Given the description of an element on the screen output the (x, y) to click on. 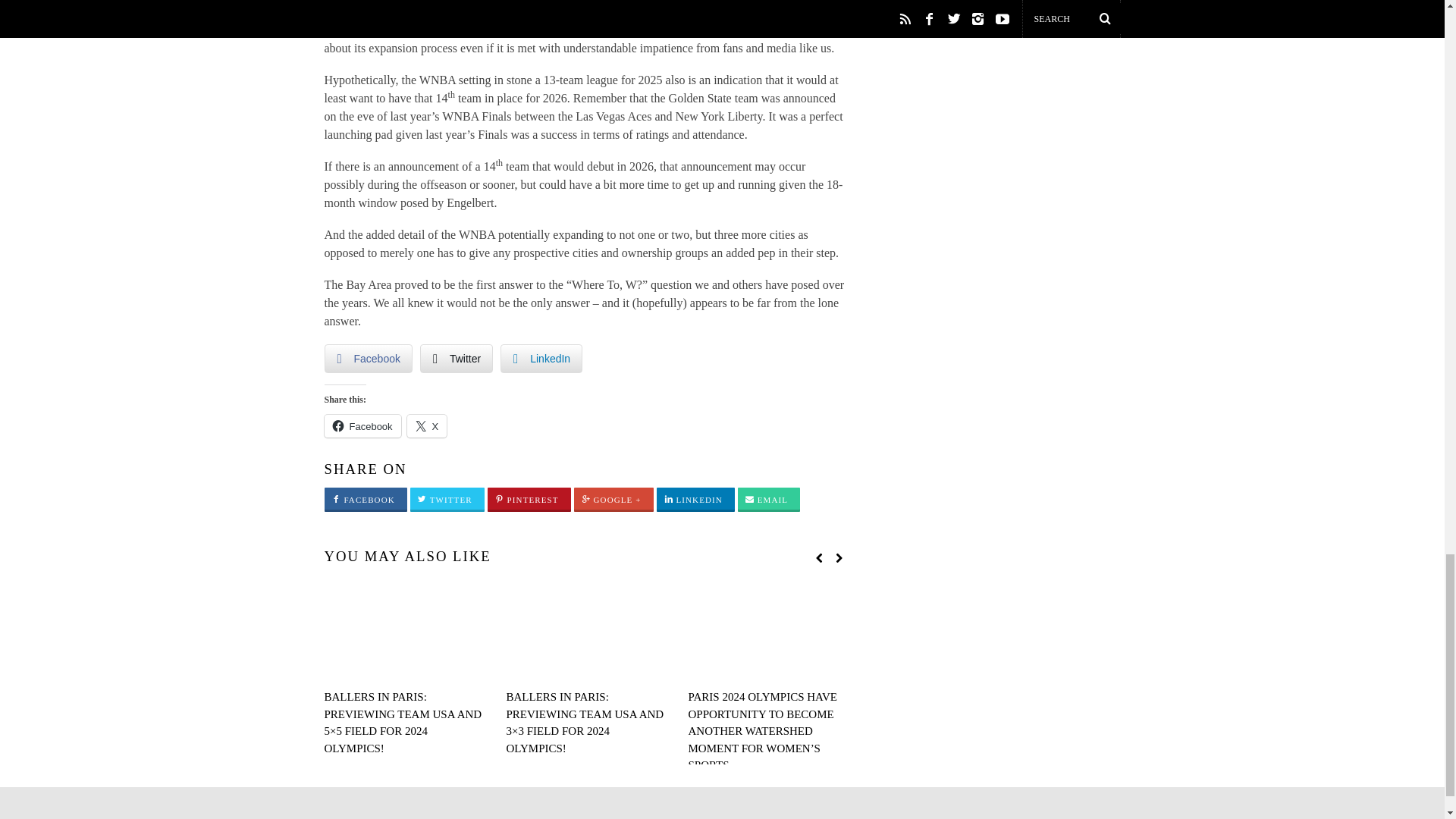
LINKEDIN (695, 499)
PINTEREST (528, 499)
Click to share on X (426, 425)
Click to share on Facebook (362, 425)
EMAIL (768, 499)
